Given the description of an element on the screen output the (x, y) to click on. 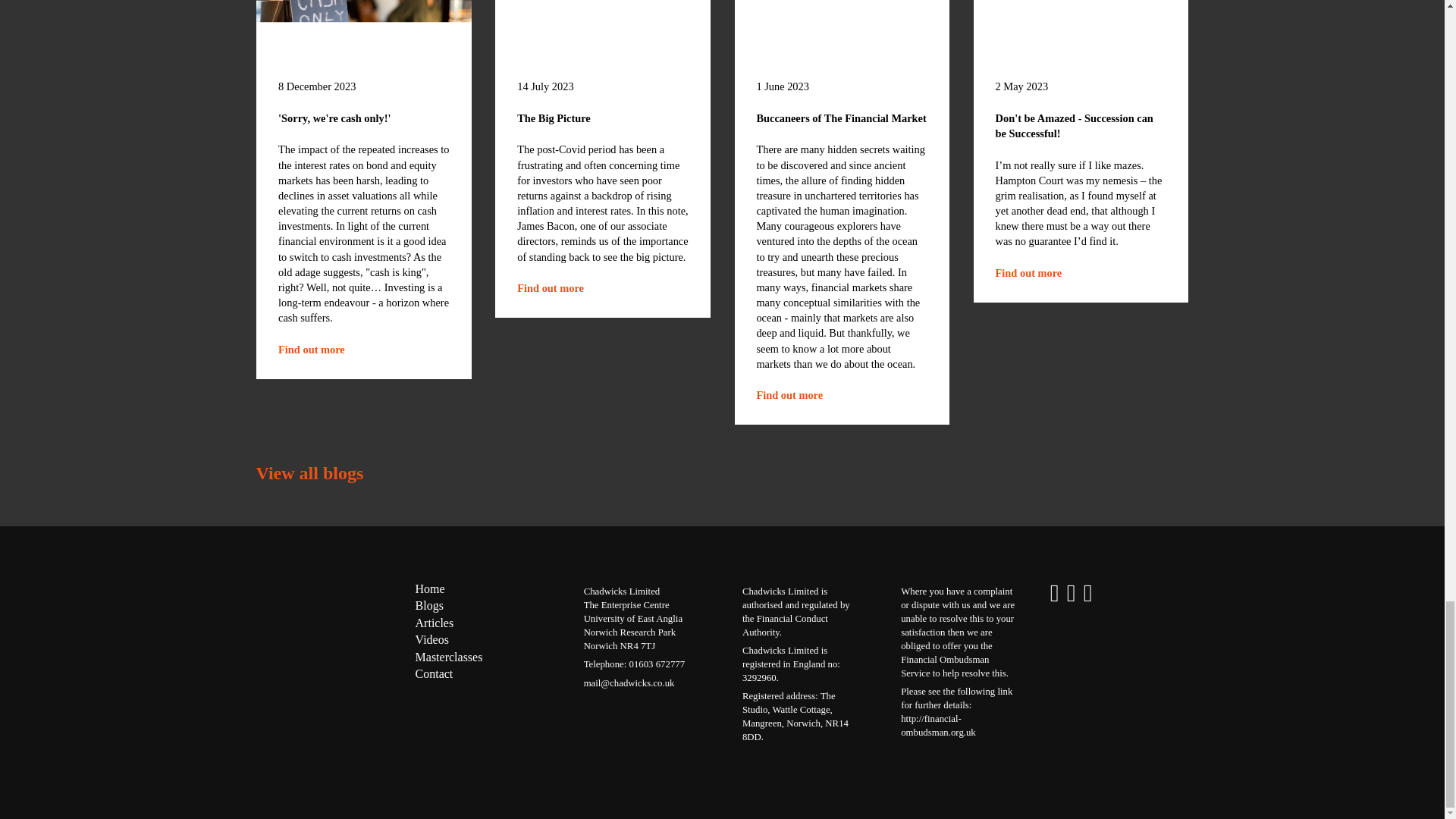
Articles (434, 623)
Blogs (429, 605)
View all blogs (310, 473)
Videos (431, 640)
Masterclasses (549, 287)
Home (448, 657)
Contact (1028, 272)
